Given the description of an element on the screen output the (x, y) to click on. 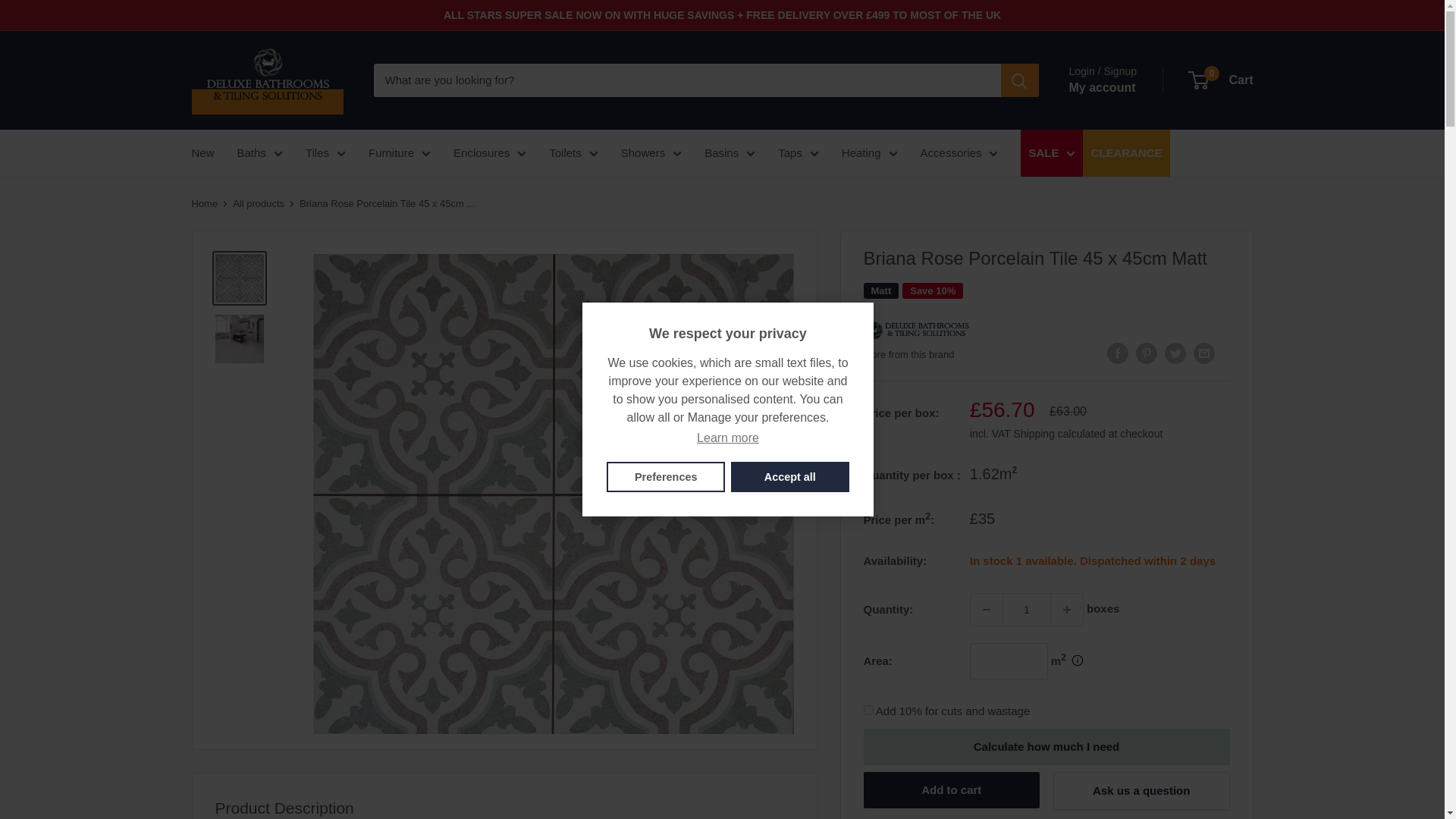
1 (1027, 609)
Increase quantity by 1 (1067, 609)
on (867, 709)
Decrease quantity by 1 (987, 609)
Accept all (789, 476)
Preferences (666, 476)
Deluxe Bathrooms (916, 328)
Learn more (727, 437)
